Given the description of an element on the screen output the (x, y) to click on. 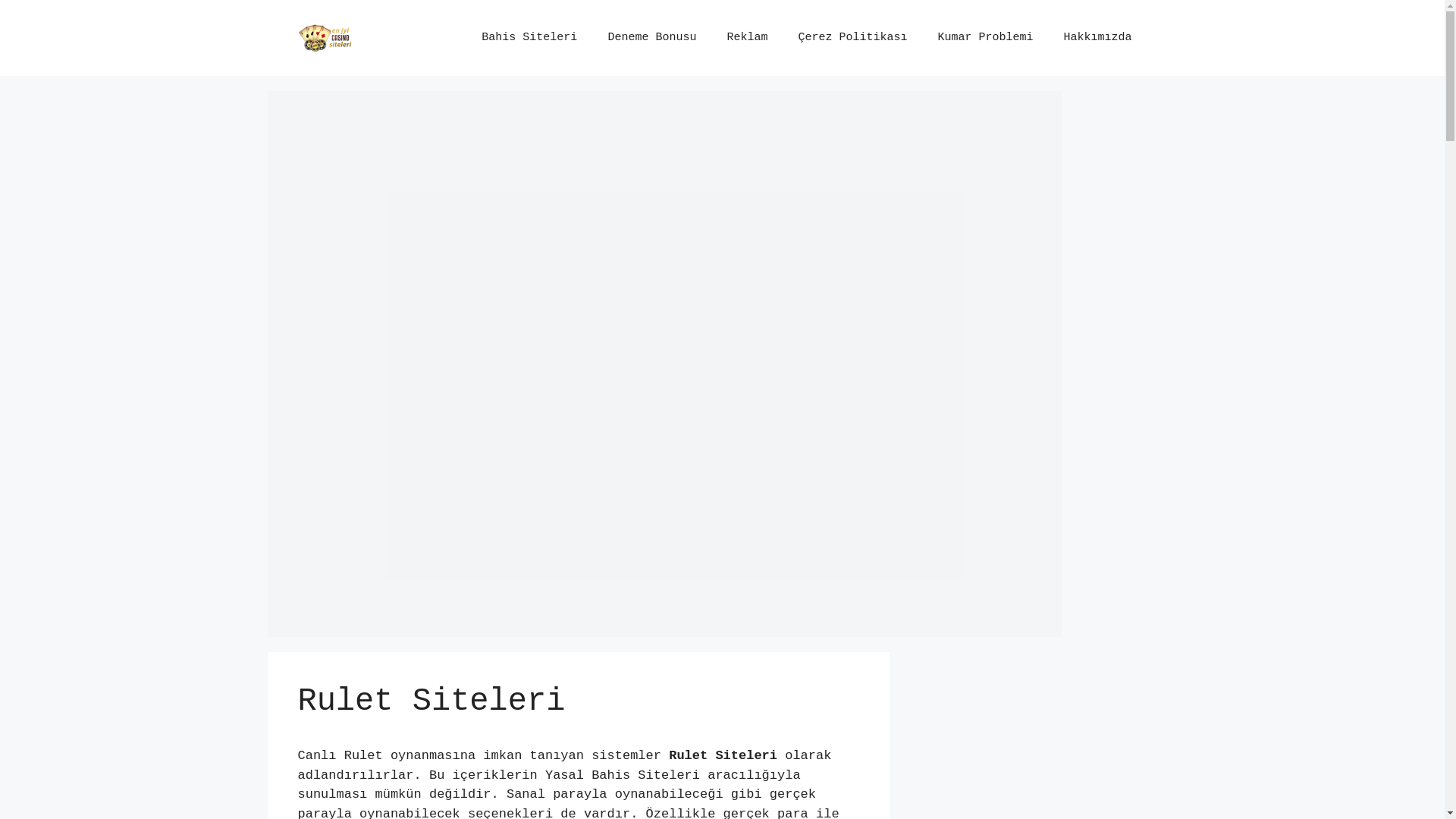
Deneme Bonusu Element type: text (651, 37)
Kumar Problemi Element type: text (985, 37)
Reklam Element type: text (746, 37)
Bahis Siteleri Element type: text (529, 37)
